Given the description of an element on the screen output the (x, y) to click on. 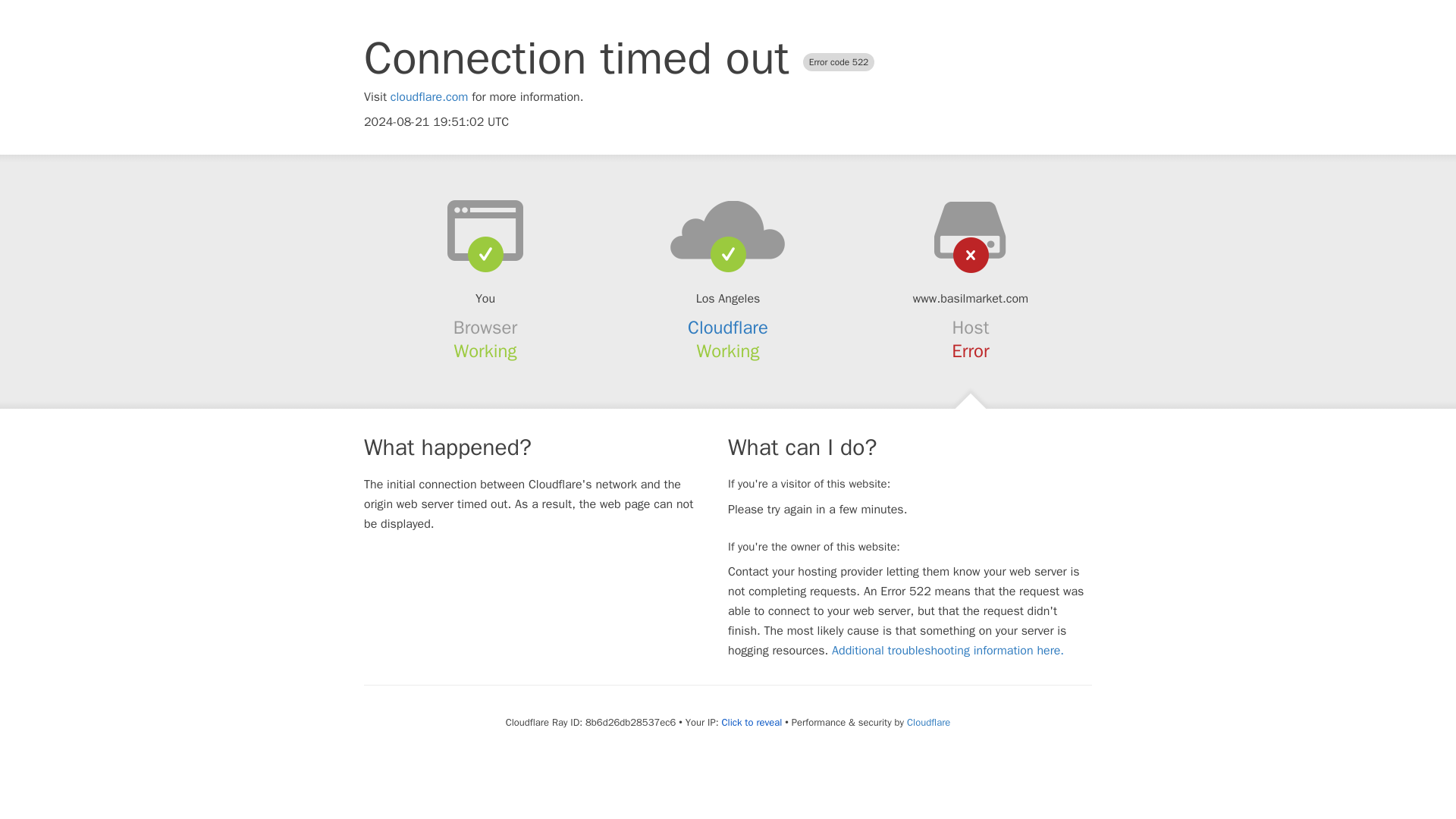
Click to reveal (750, 722)
Cloudflare (928, 721)
cloudflare.com (429, 96)
Additional troubleshooting information here. (947, 650)
Cloudflare (727, 327)
